Given the description of an element on the screen output the (x, y) to click on. 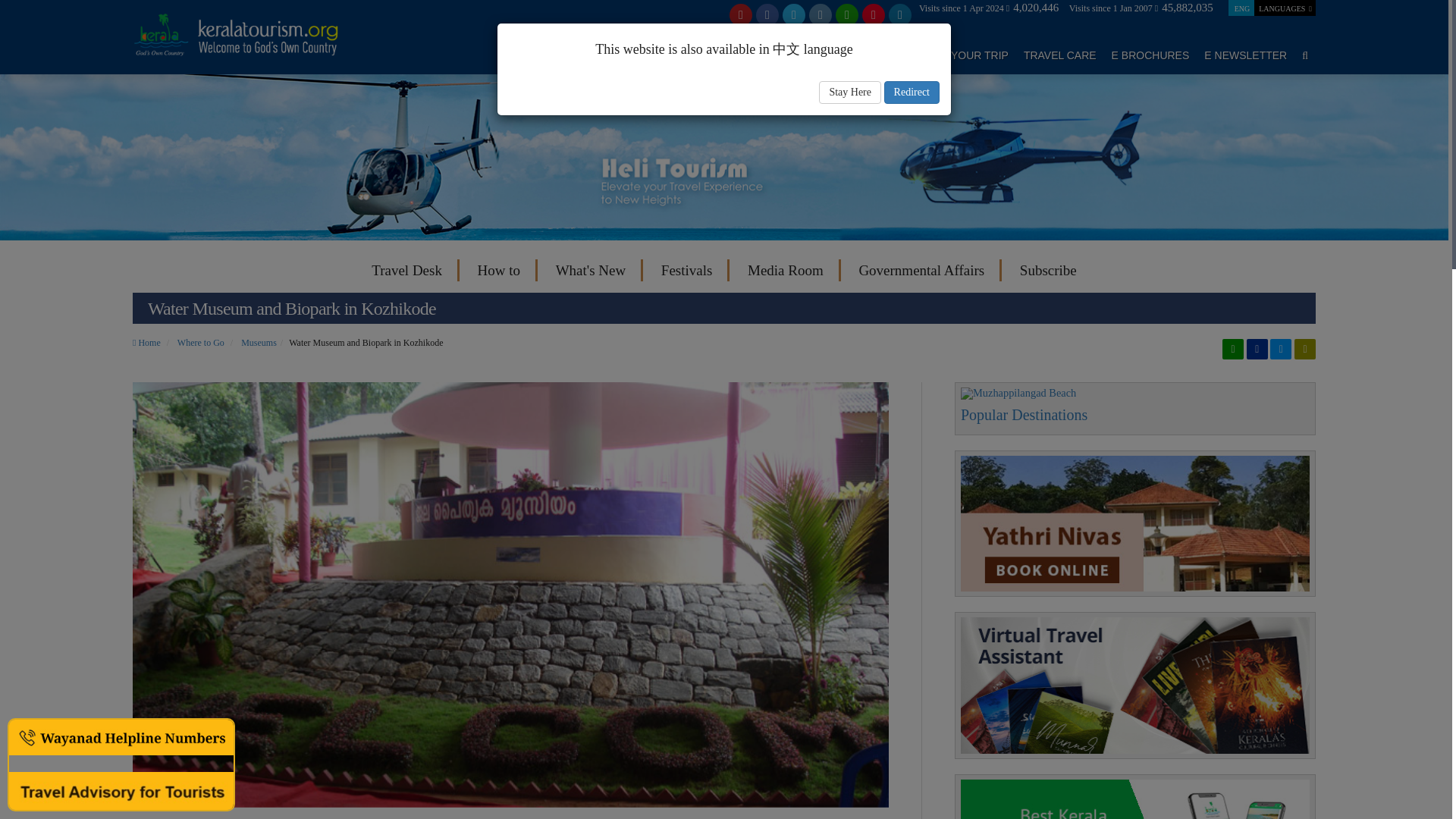
WHERE TO GO (674, 55)
E BROCHURES (1150, 55)
TRAVEL CARE (1059, 55)
THINGS TO DO (866, 55)
Redirect (911, 92)
What's New (590, 270)
EXPERIENCE KERALA (564, 55)
How to (498, 270)
WHERE TO STAY (770, 55)
